Given the description of an element on the screen output the (x, y) to click on. 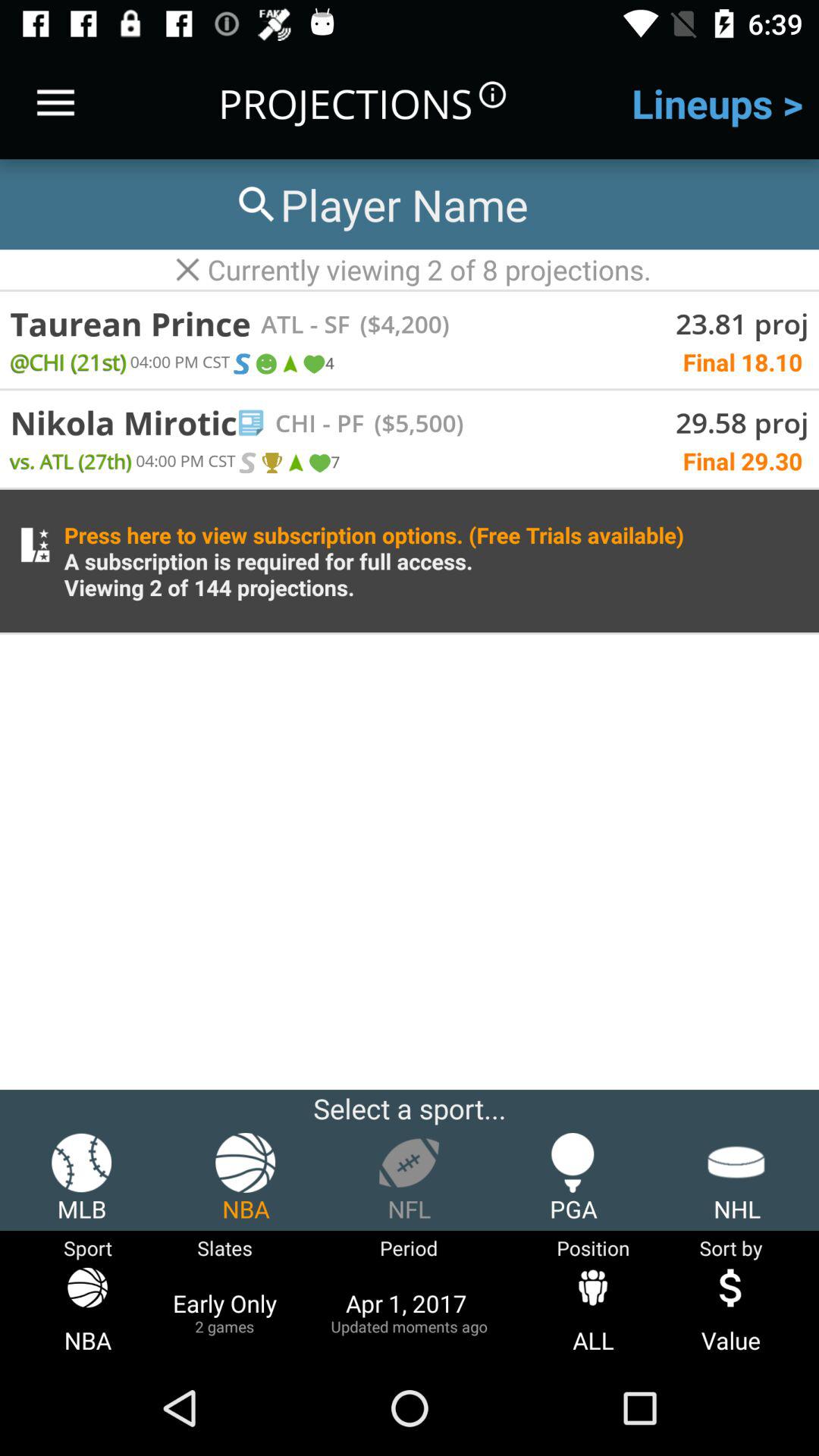
click @chi (21st) icon (68, 361)
